Given the description of an element on the screen output the (x, y) to click on. 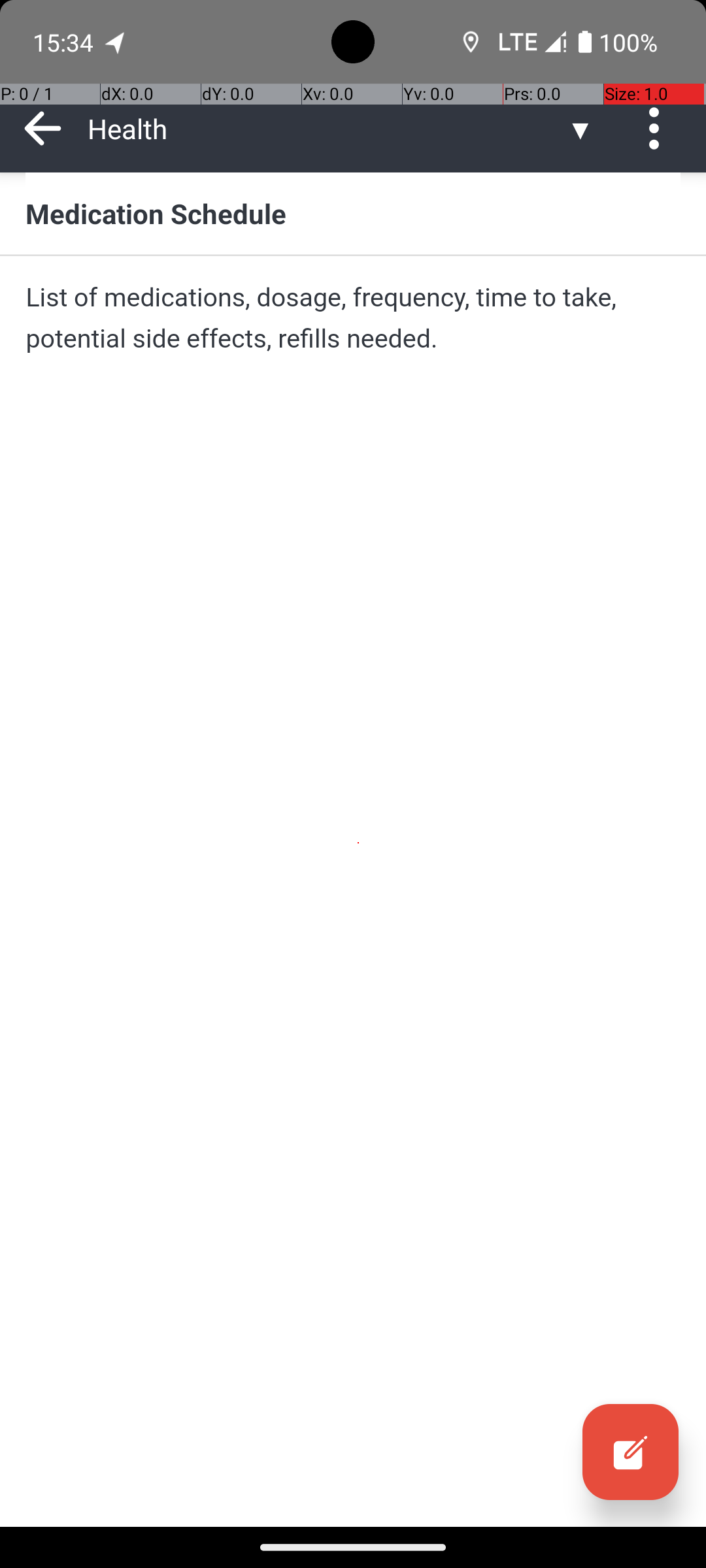
Medication Schedule Element type: android.widget.EditText (352, 213)
List of medications, dosage, frequency, time to take, potential side effects, refills needed. Element type: android.widget.TextView (352, 317)
